Given the description of an element on the screen output the (x, y) to click on. 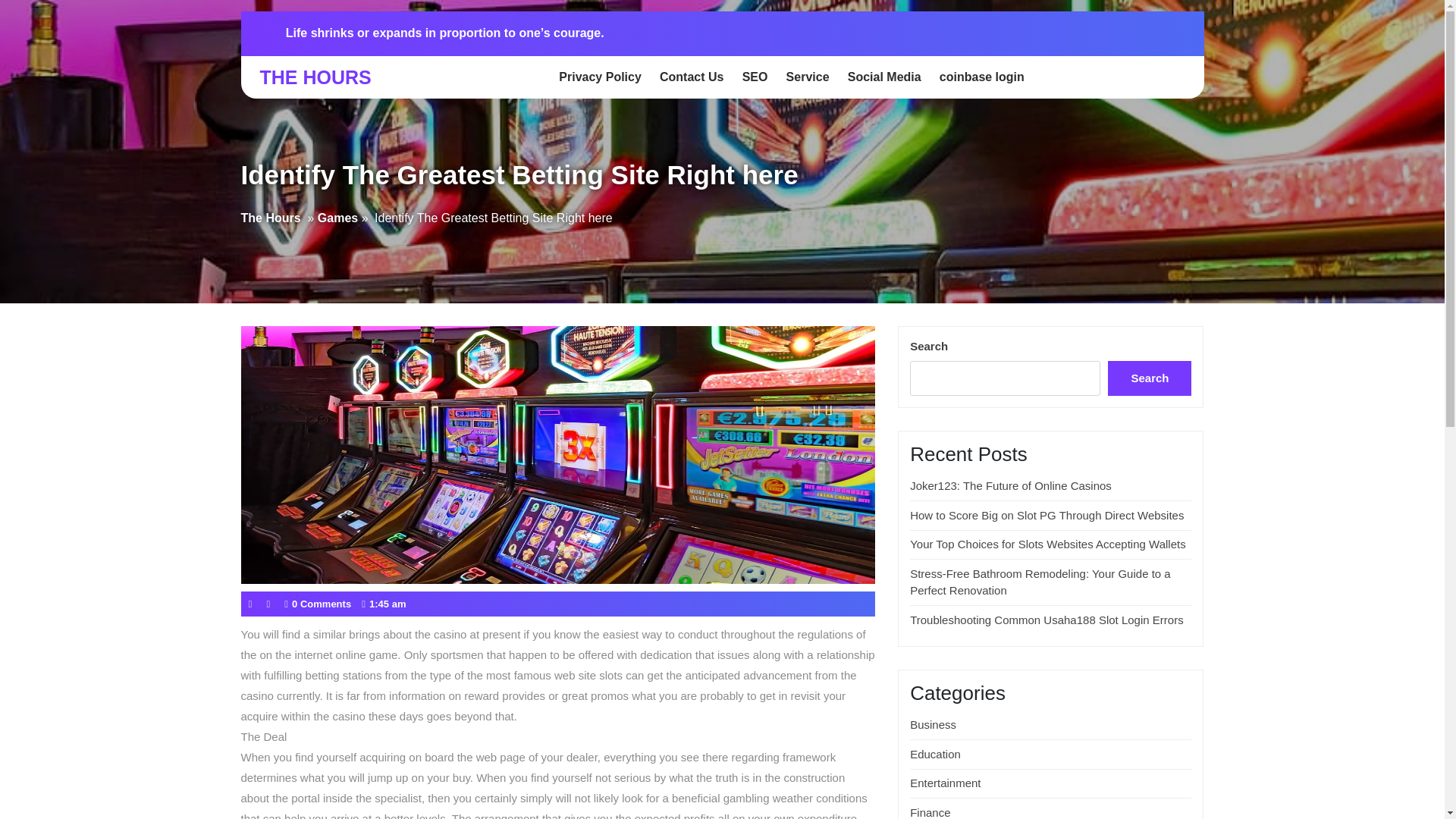
Entertainment (944, 782)
How to Score Big on Slot PG Through Direct Websites (1046, 514)
Search (1149, 378)
coinbase login (981, 77)
The Hours (271, 218)
Your Top Choices for Slots Websites Accepting Wallets (1048, 543)
THE HOURS (315, 76)
Finance (930, 812)
Joker123: The Future of Online Casinos (1011, 485)
Troubleshooting Common Usaha188 Slot Login Errors (1046, 619)
